Given the description of an element on the screen output the (x, y) to click on. 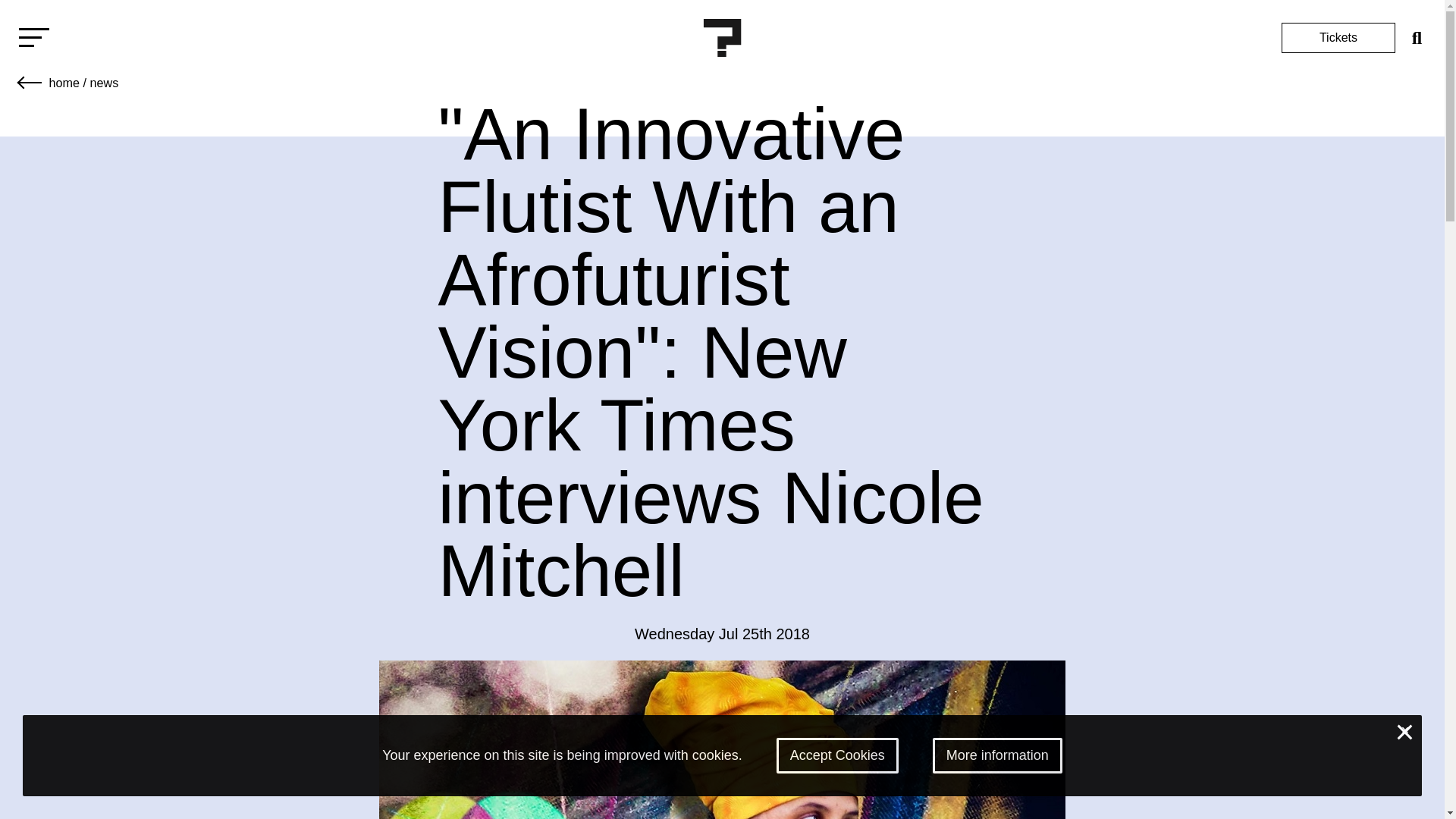
news (102, 82)
Tickets (1337, 37)
home (64, 82)
